Given the description of an element on the screen output the (x, y) to click on. 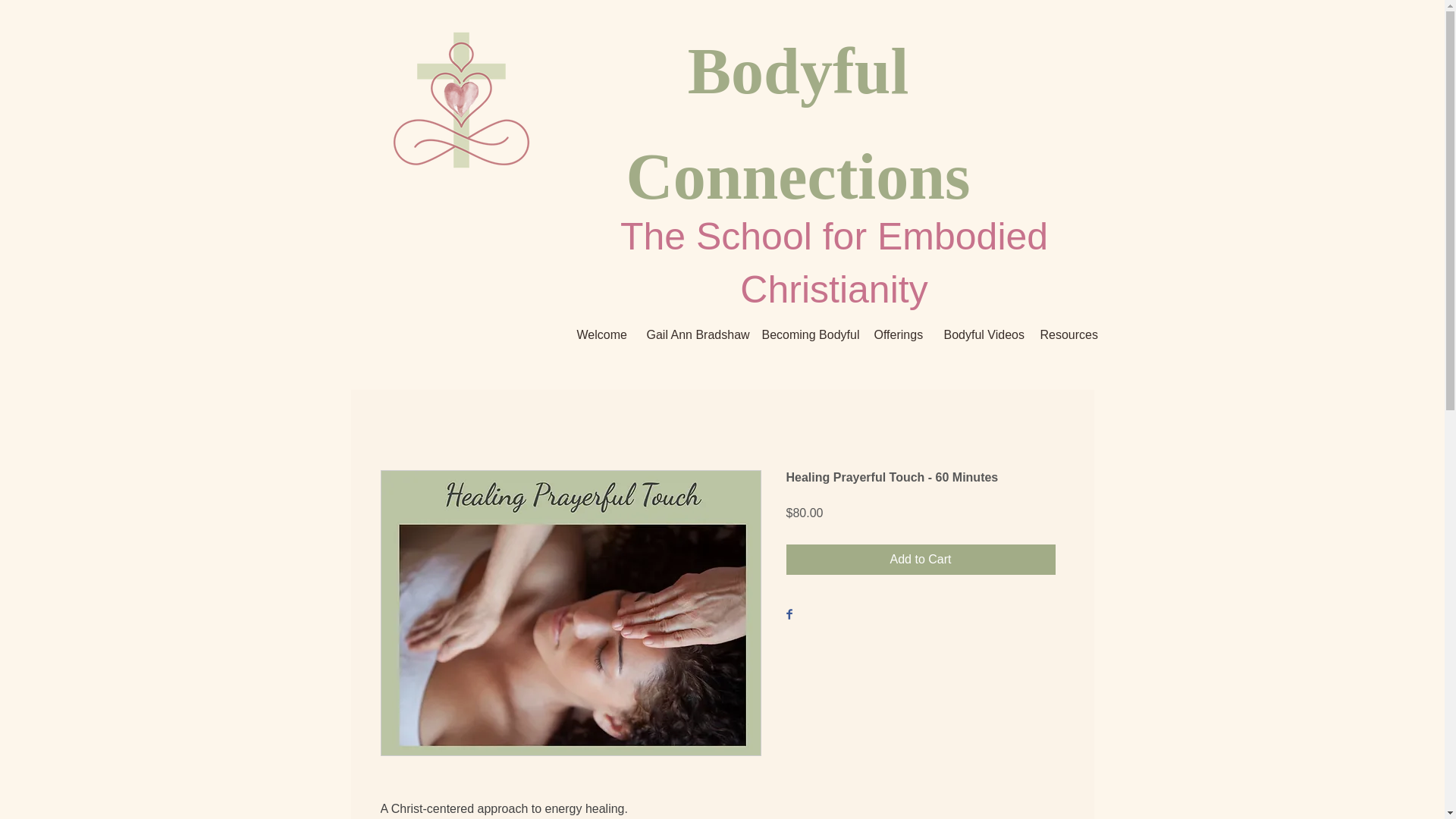
Becoming Bodyful (807, 334)
Add to Cart (920, 559)
2 - Full Body.png (460, 104)
Welcome (600, 334)
Bodyful Videos (981, 334)
Offerings (898, 334)
Gail Ann Bradshaw (692, 334)
Resources (1064, 334)
